Given the description of an element on the screen output the (x, y) to click on. 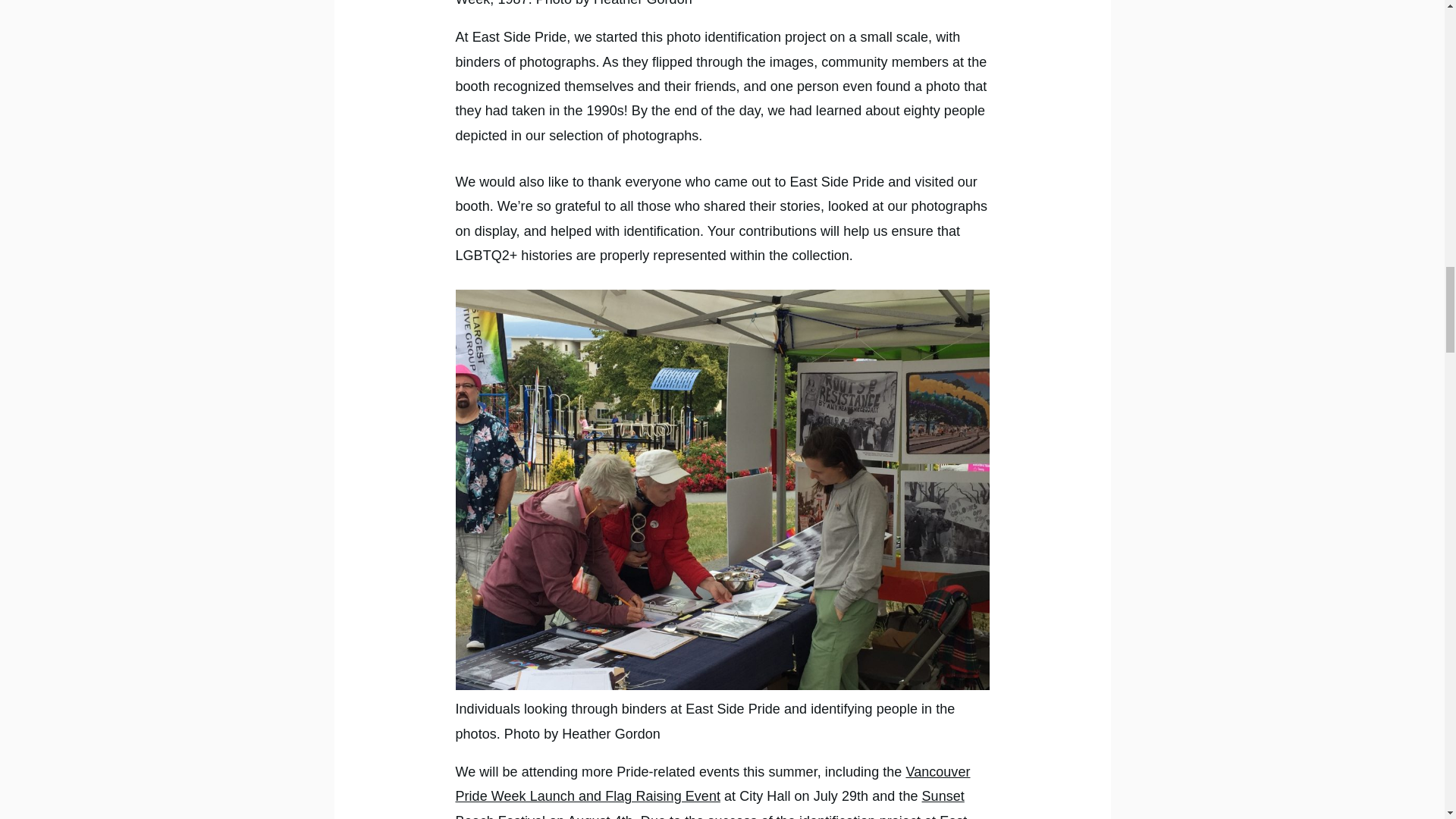
Sunset Beach Festival (708, 803)
Vancouver Pride Week Launch and Flag Raising Event (711, 783)
